Given the description of an element on the screen output the (x, y) to click on. 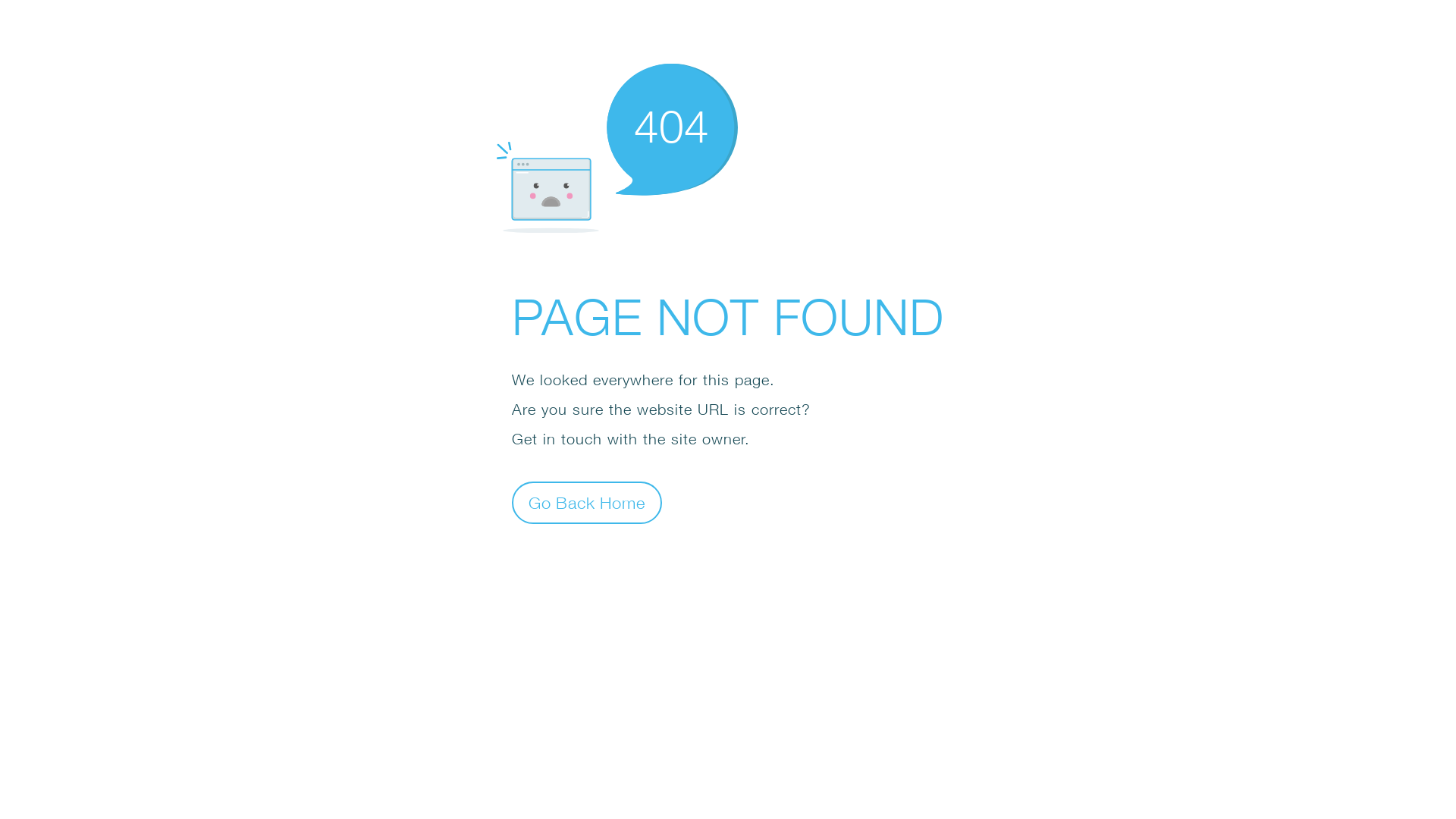
Go Back Home Element type: text (586, 502)
